Given the description of an element on the screen output the (x, y) to click on. 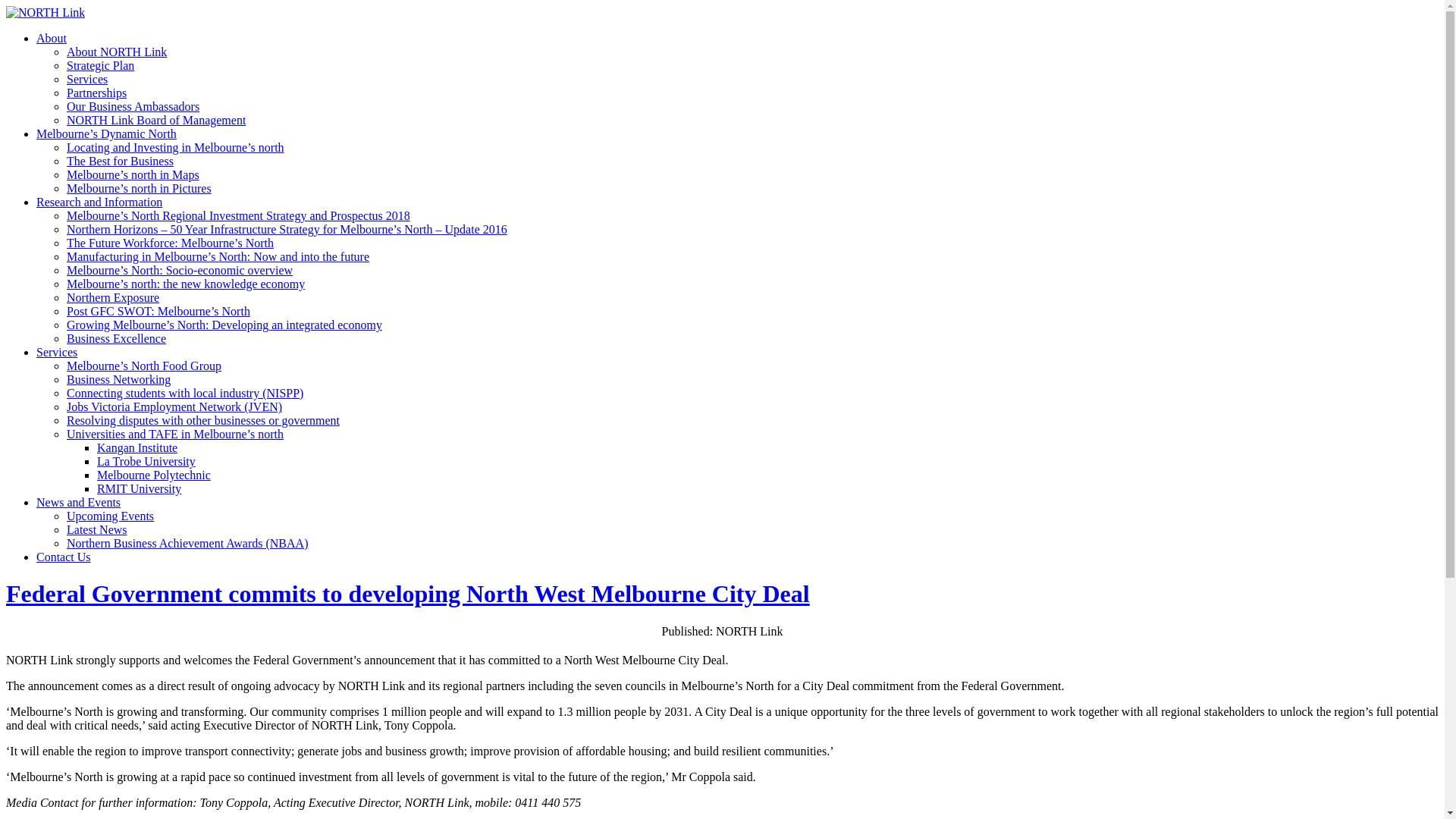
RMIT University Element type: text (139, 488)
Services Element type: text (56, 351)
Kangan Institute Element type: text (137, 447)
About Element type: text (51, 37)
NORTH Link Board of Management Element type: text (155, 119)
Contact Us Element type: text (63, 556)
Latest News Element type: text (96, 529)
Melbourne Polytechnic Element type: text (153, 474)
Services Element type: text (86, 78)
Our Business Ambassadors Element type: text (132, 106)
The Best for Business Element type: text (119, 160)
Business Excellence Element type: text (116, 338)
News and Events Element type: text (78, 501)
Upcoming Events Element type: text (109, 515)
Northern Exposure Element type: text (112, 297)
Resolving disputes with other businesses or government Element type: text (202, 420)
NORTH Link Element type: hover (45, 12)
Northern Business Achievement Awards (NBAA) Element type: text (186, 542)
Connecting students with local industry (NISPP) Element type: text (184, 392)
Partnerships Element type: text (96, 92)
La Trobe University Element type: text (146, 461)
Business Networking Element type: text (118, 379)
Strategic Plan Element type: text (100, 65)
Jobs Victoria Employment Network (JVEN) Element type: text (174, 406)
Research and Information Element type: text (99, 201)
About NORTH Link Element type: text (116, 51)
